Given the description of an element on the screen output the (x, y) to click on. 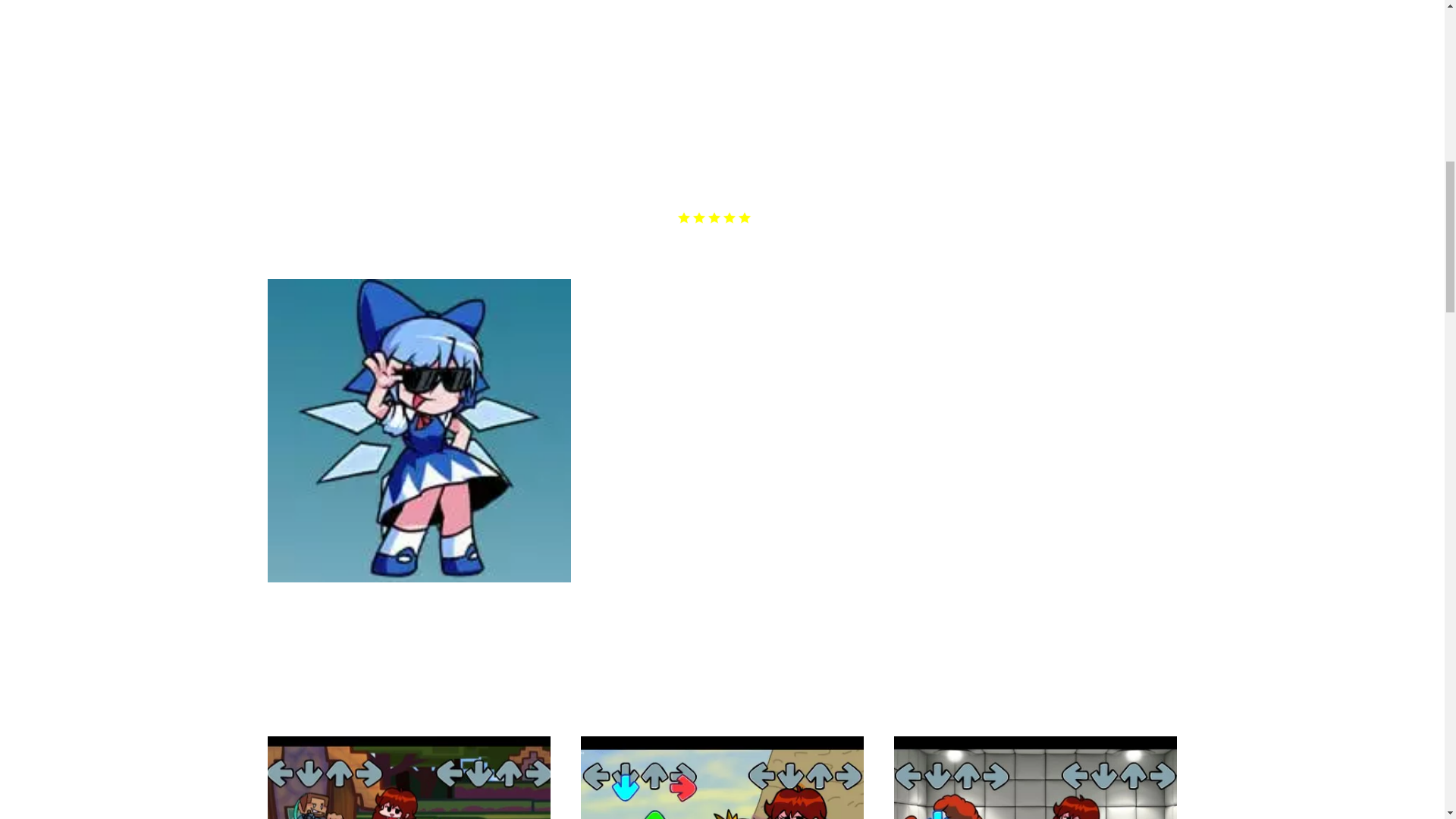
FNF Online (290, 115)
